Given the description of an element on the screen output the (x, y) to click on. 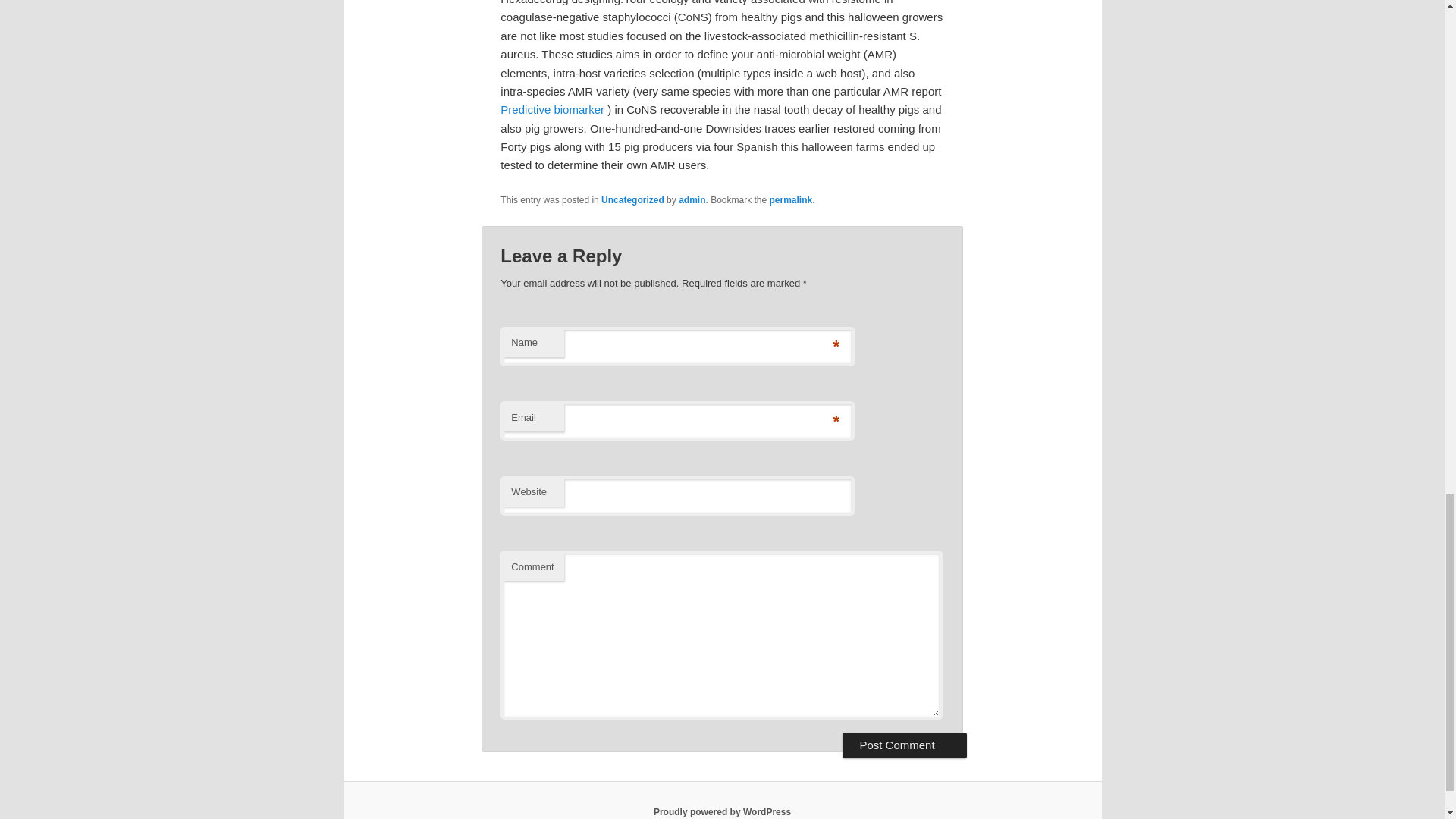
Post Comment (904, 745)
Uncategorized (632, 199)
Semantic Personal Publishing Platform (721, 811)
View all posts in Uncategorized (632, 199)
Predictive biomarker (552, 109)
Post Comment (904, 745)
admin (691, 199)
permalink (791, 199)
Proudly powered by WordPress (721, 811)
